Given the description of an element on the screen output the (x, y) to click on. 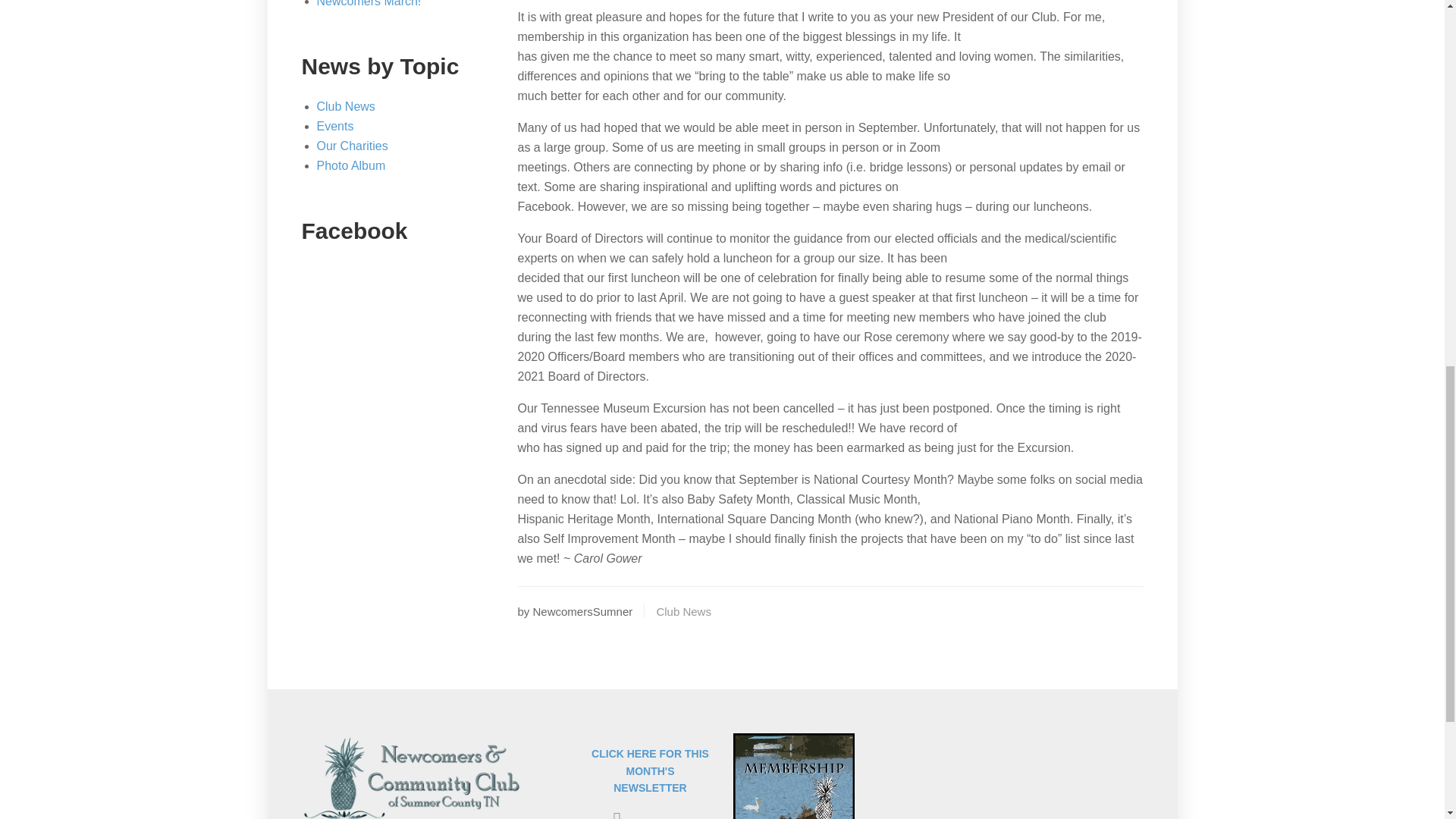
Photo Album (351, 164)
Our Charities (352, 145)
CLICK HERE FOR THIS MONTH'S NEWSLETTER (650, 770)
Club News (683, 611)
Events (335, 125)
Newcomers March! (369, 3)
LIKE US ON FACEBOOK (653, 818)
Club News (346, 106)
